Given the description of an element on the screen output the (x, y) to click on. 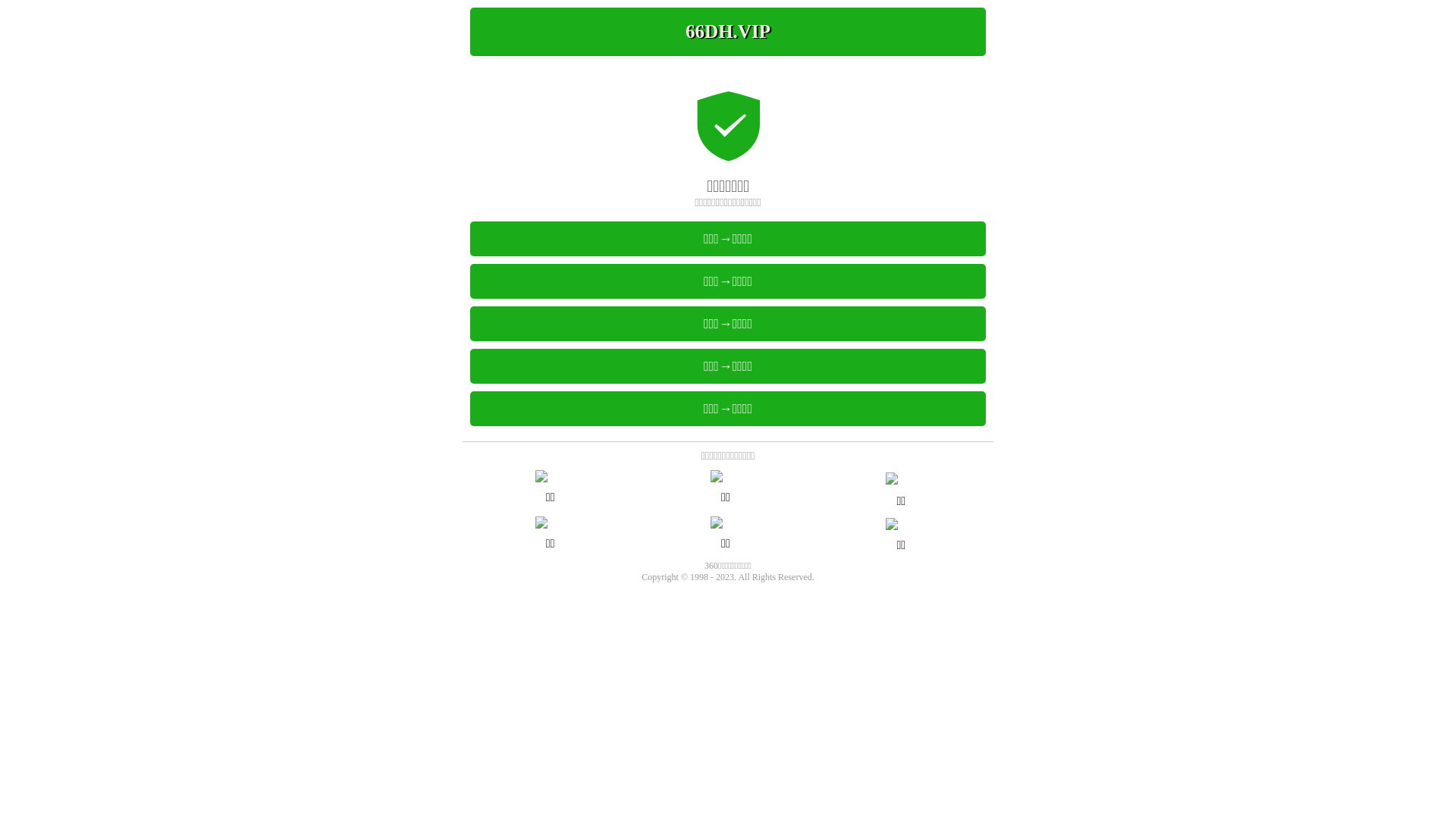
66DH.VIP Element type: text (727, 31)
